Given the description of an element on the screen output the (x, y) to click on. 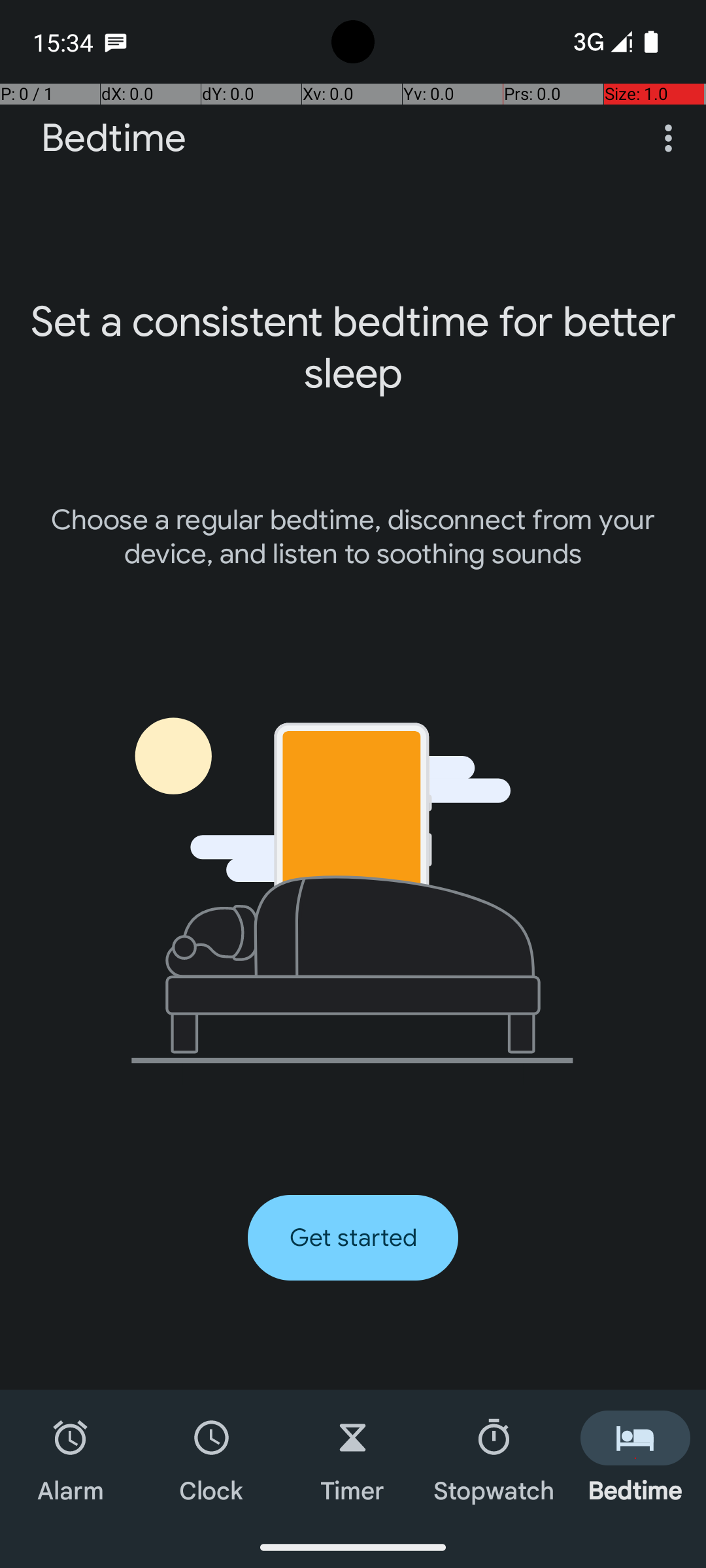
Set a consistent bedtime for better sleep Element type: android.widget.TextView (352, 347)
Choose a regular bedtime, disconnect from your device, and listen to soothing sounds Element type: android.widget.TextView (352, 536)
